Given the description of an element on the screen output the (x, y) to click on. 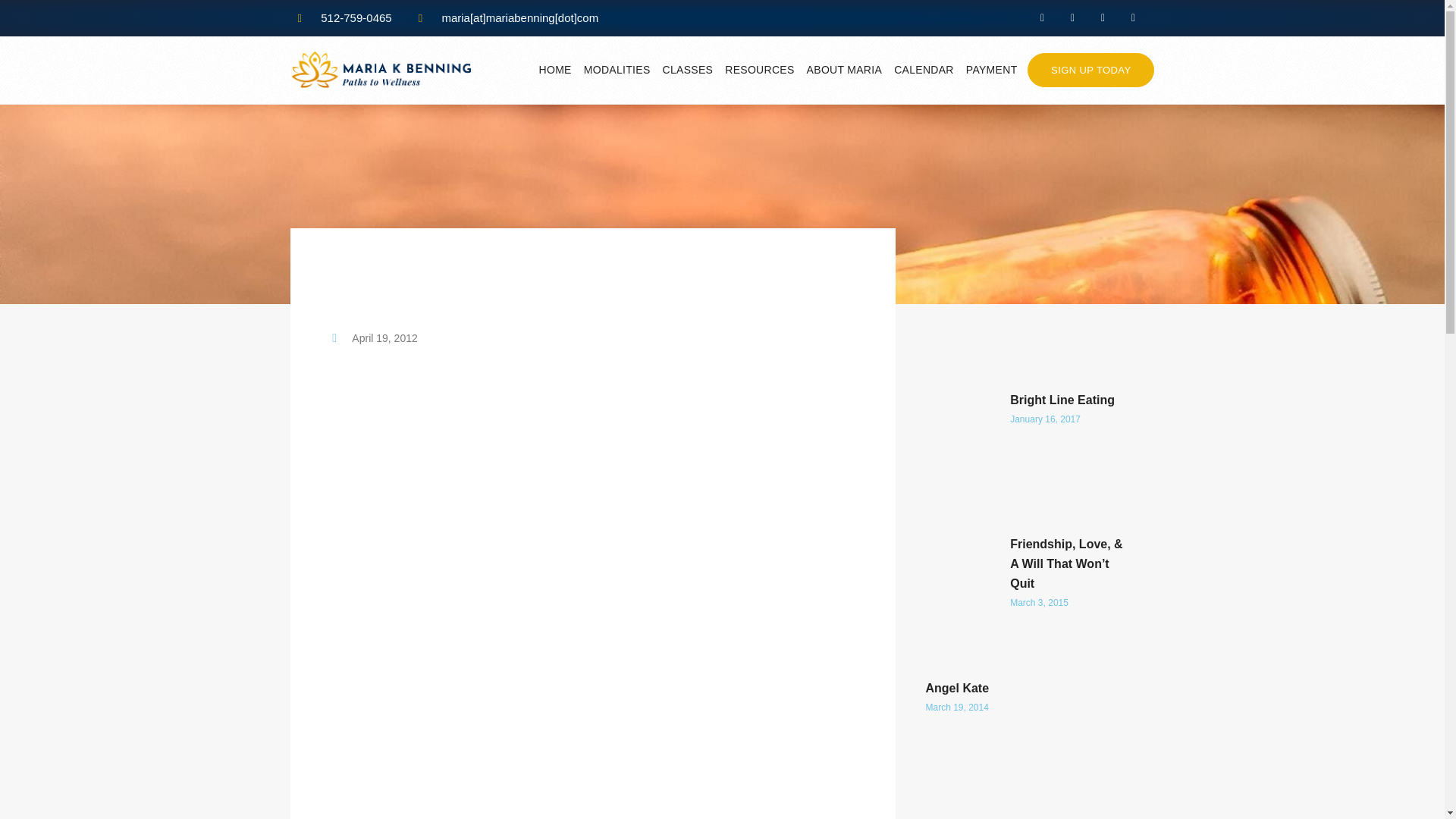
PAYMENT (992, 69)
HOME (555, 69)
CLASSES (688, 69)
MODALITIES (616, 69)
CALENDAR (923, 69)
RESOURCES (758, 69)
ABOUT MARIA (844, 69)
